Given the description of an element on the screen output the (x, y) to click on. 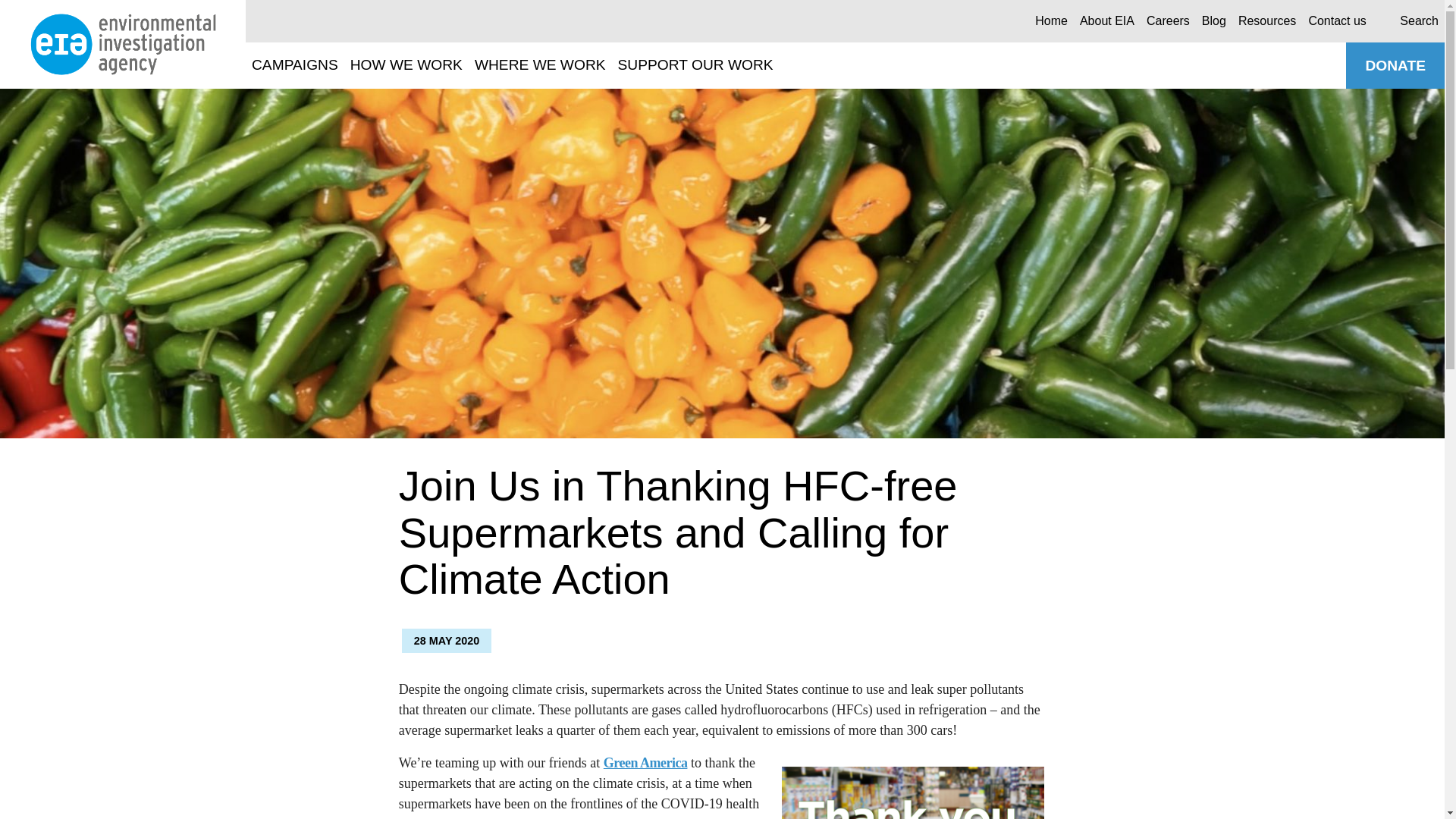
CAMPAIGNS (294, 65)
Search (1387, 21)
WHERE WE WORK (539, 65)
Home (1051, 20)
Blog (1213, 20)
HOW WE WORK (405, 65)
Resources (1266, 20)
About EIA (1107, 20)
SUPPORT OUR WORK (694, 65)
Contact us (1336, 20)
Careers (1167, 20)
